Given the description of an element on the screen output the (x, y) to click on. 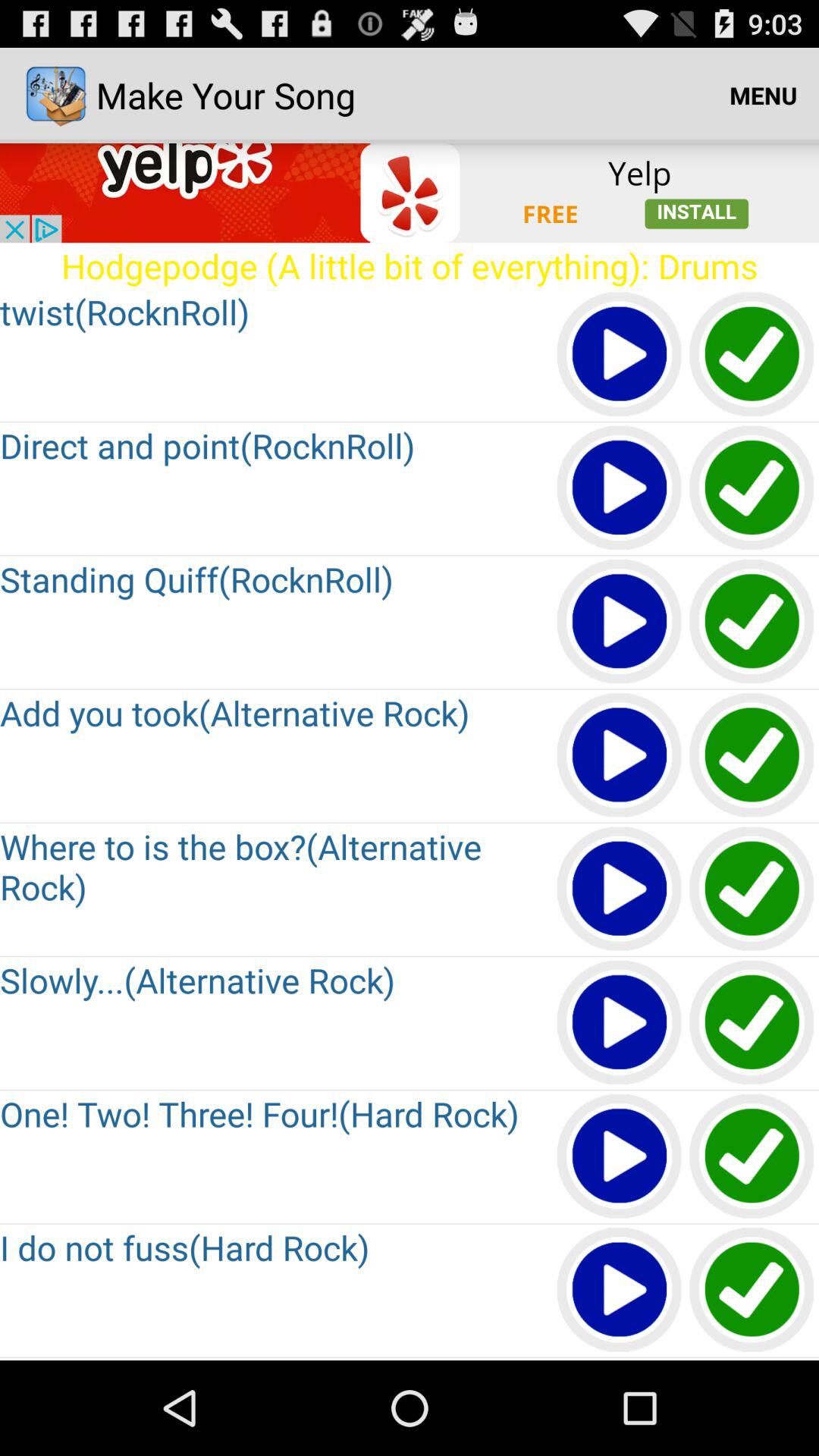
play song (619, 622)
